Given the description of an element on the screen output the (x, y) to click on. 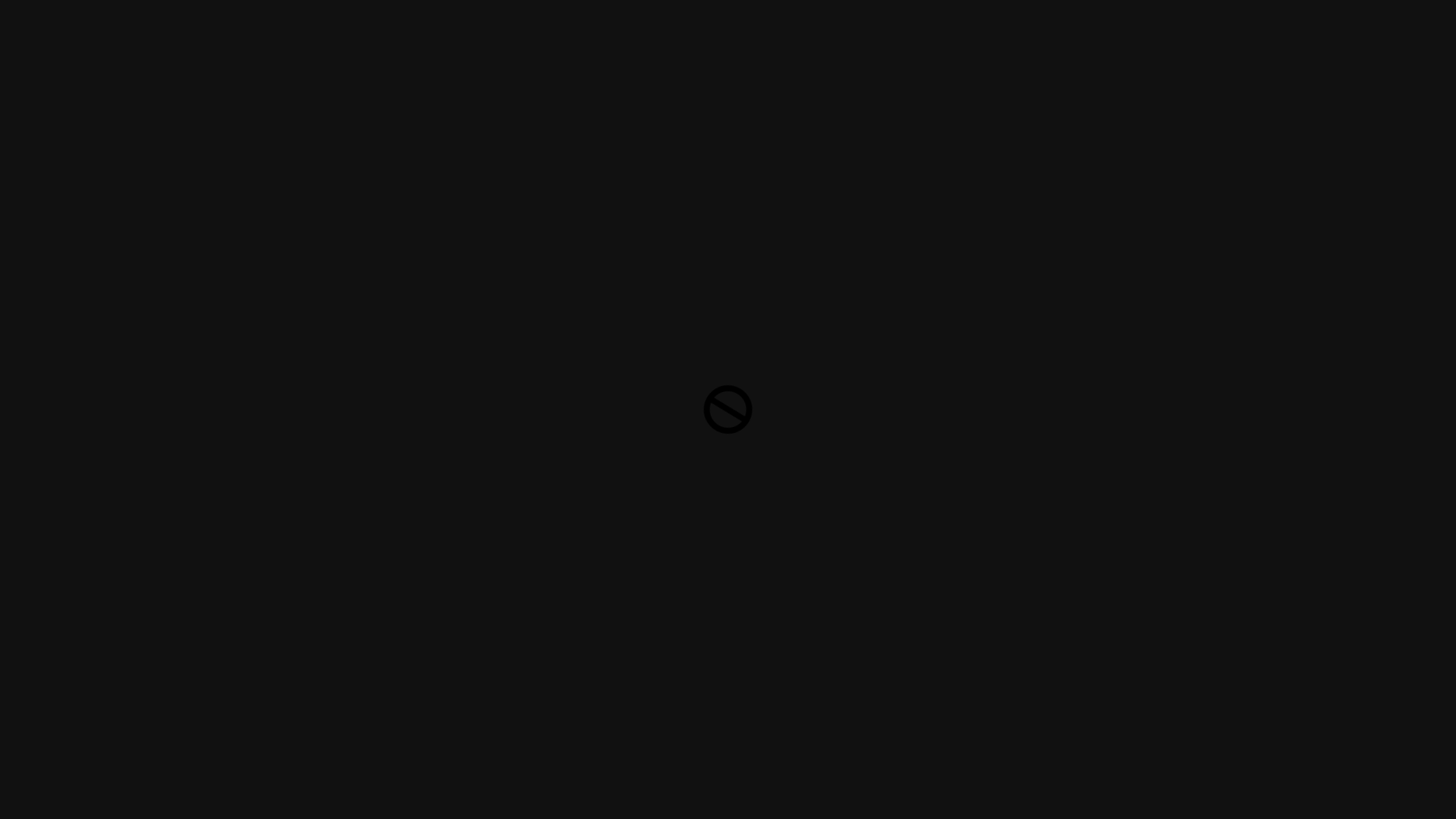
WP Maintenance plugin Element type: text (718, 794)
